Given the description of an element on the screen output the (x, y) to click on. 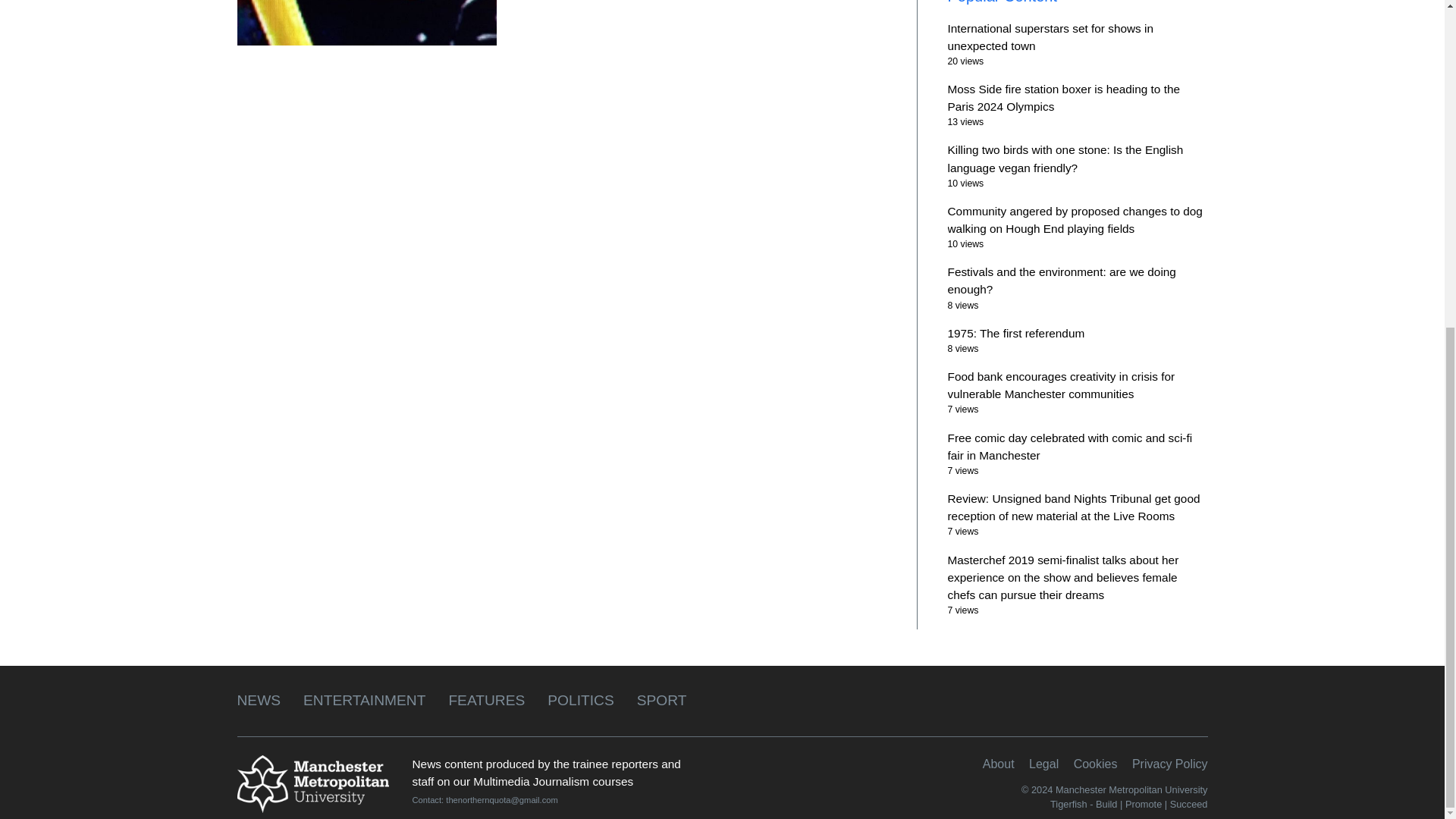
1975: The first referendum (1015, 332)
SPORT (662, 700)
POLITICS (579, 700)
Festivals and the environment: are we doing enough? (1061, 280)
NEWS (258, 700)
International superstars set for shows in unexpected town (1050, 36)
Cookies (1096, 762)
ENTERTAINMENT (363, 700)
